Given the description of an element on the screen output the (x, y) to click on. 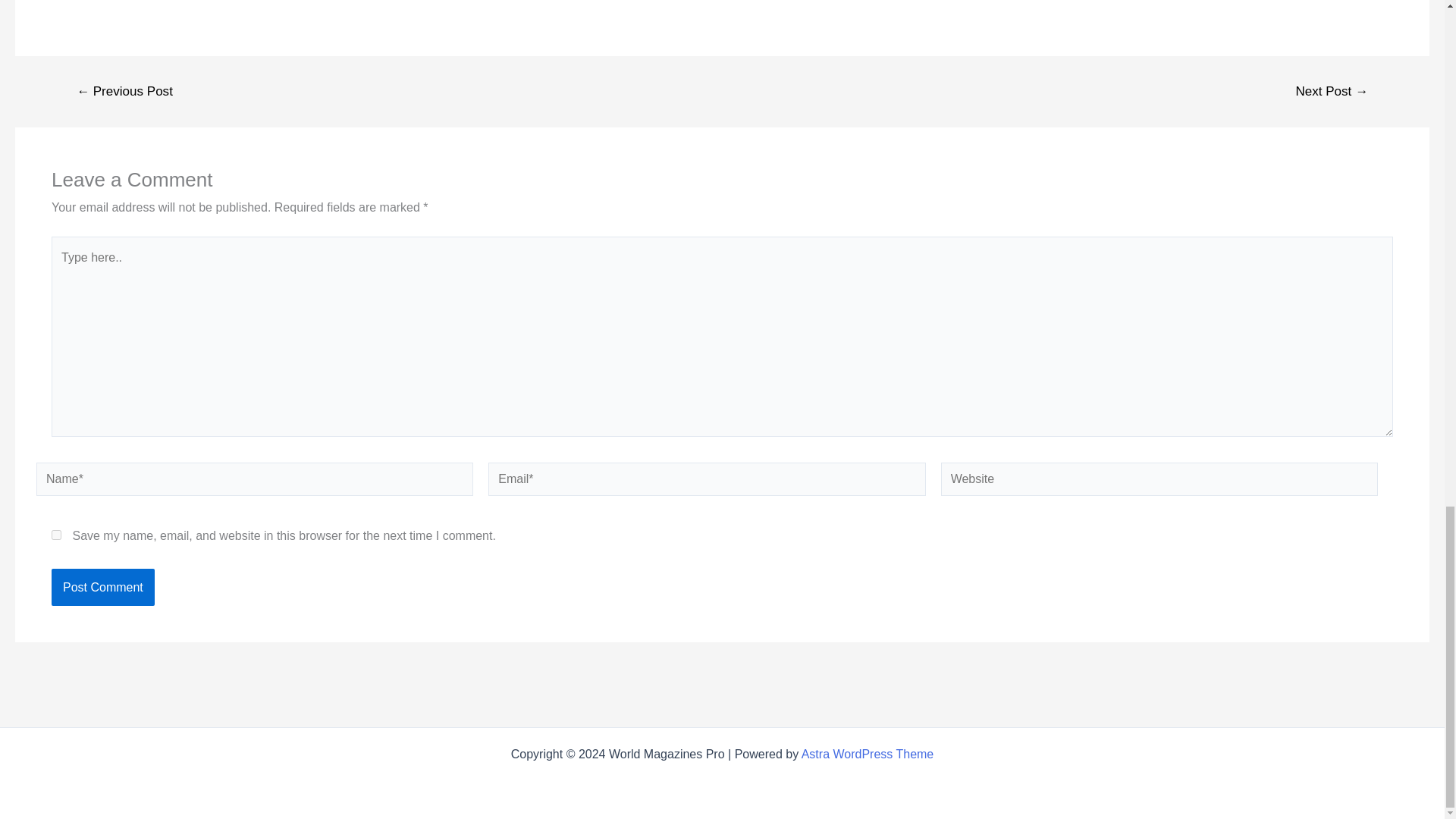
Astra WordPress Theme (868, 753)
yes (55, 534)
6 Tips On How To Apply For Indian Visa From Andorra (1331, 91)
Post Comment (102, 587)
Post Comment (102, 587)
How To Apply For A Transit Visa To Visit India (124, 91)
